Given the description of an element on the screen output the (x, y) to click on. 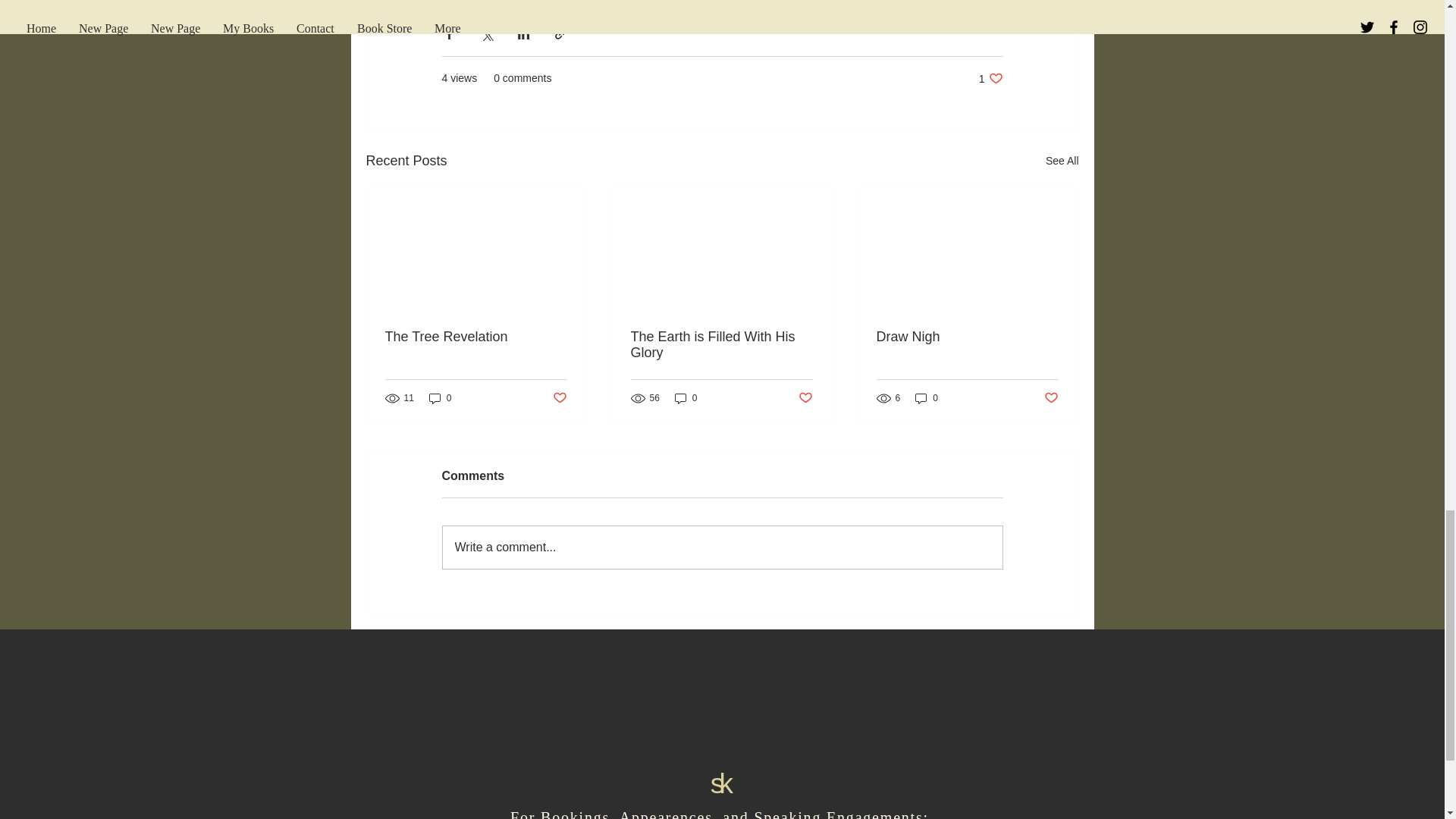
The Tree Revelation (476, 336)
Post not marked as liked (558, 398)
0 (440, 398)
See All (1061, 160)
